Given the description of an element on the screen output the (x, y) to click on. 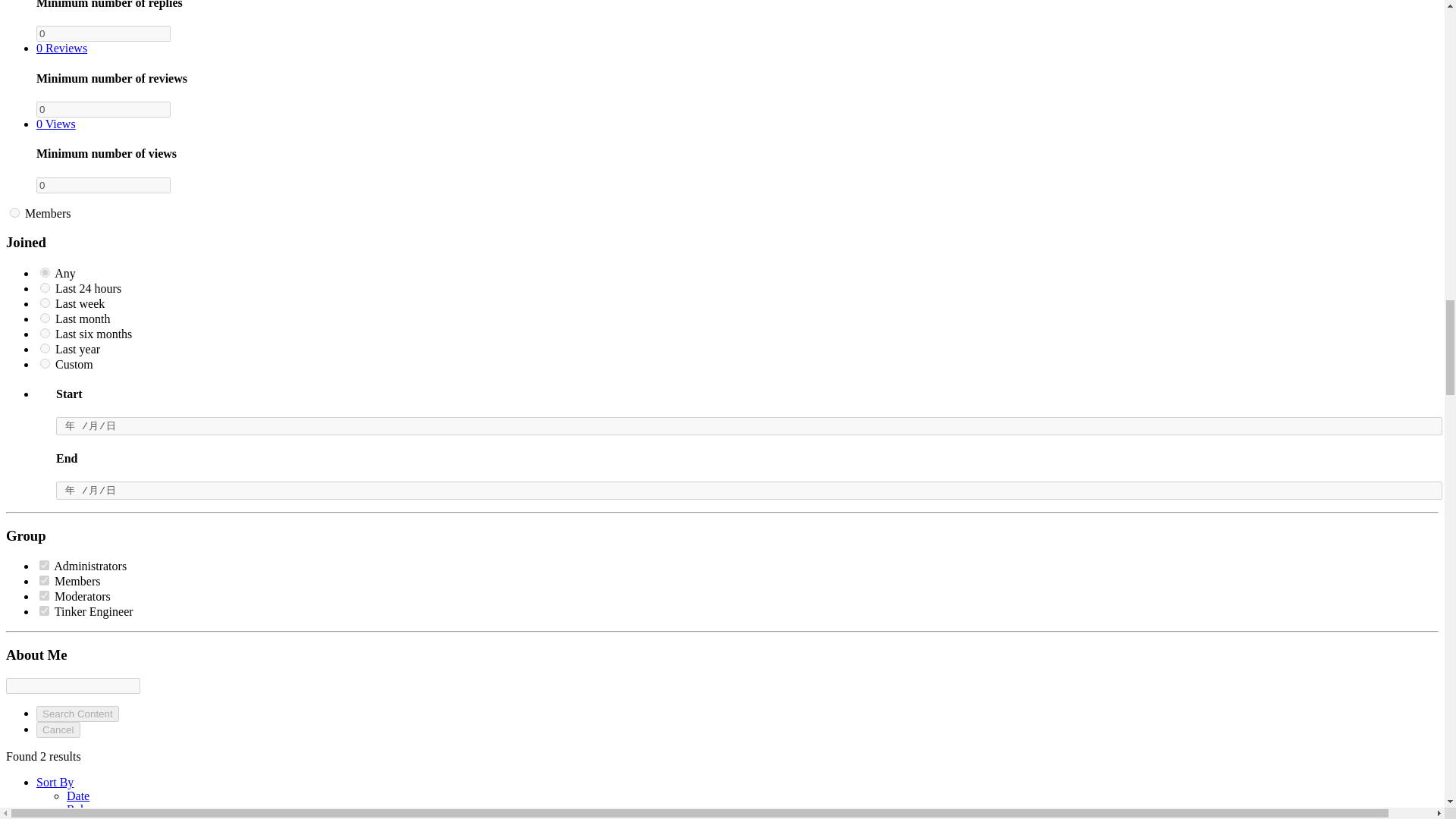
Search Content (77, 713)
Cancel (58, 729)
0 Reviews (61, 47)
Sort By (55, 781)
0 Views (55, 123)
